Given the description of an element on the screen output the (x, y) to click on. 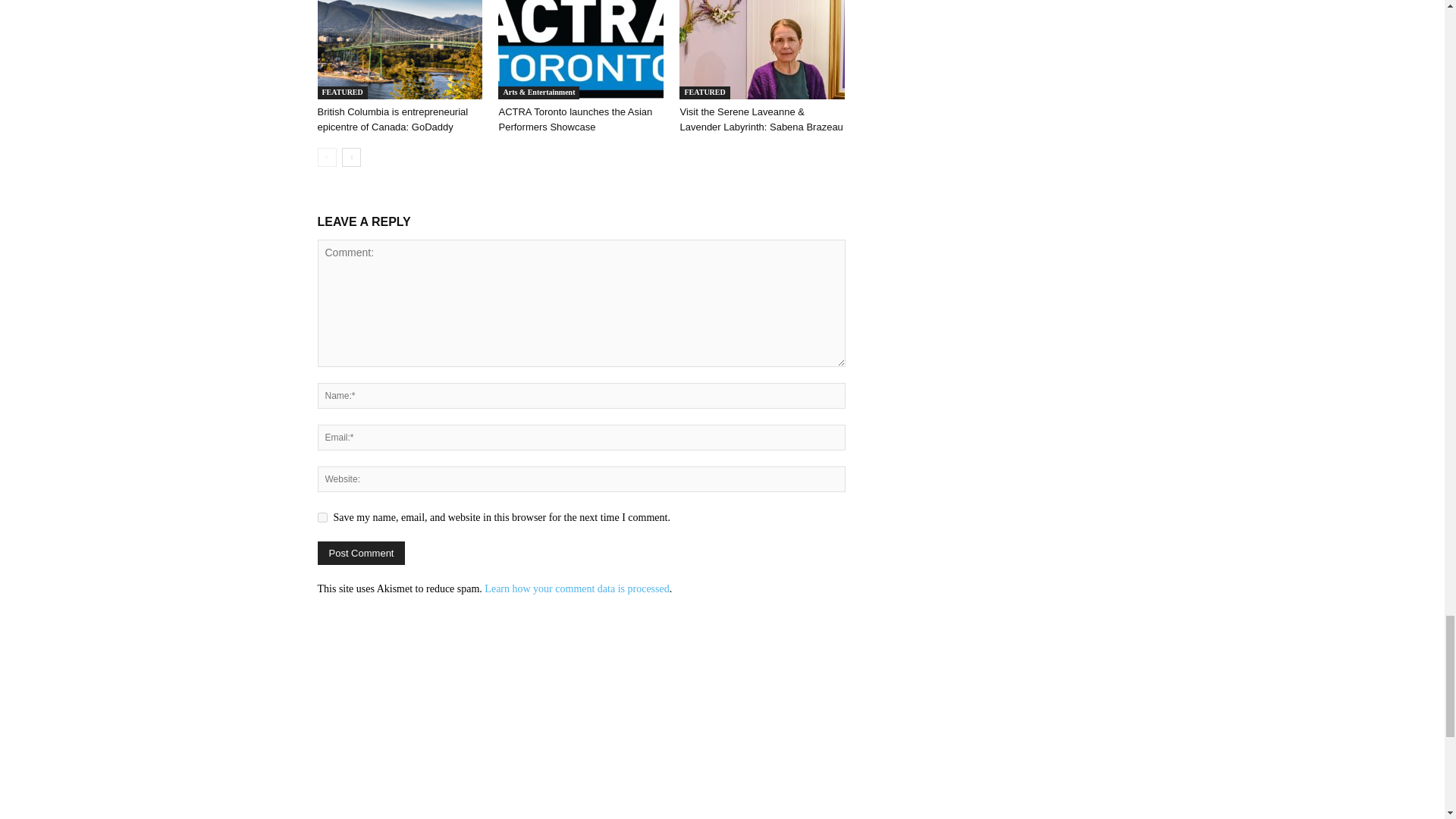
Post Comment (360, 553)
yes (321, 517)
